Given the description of an element on the screen output the (x, y) to click on. 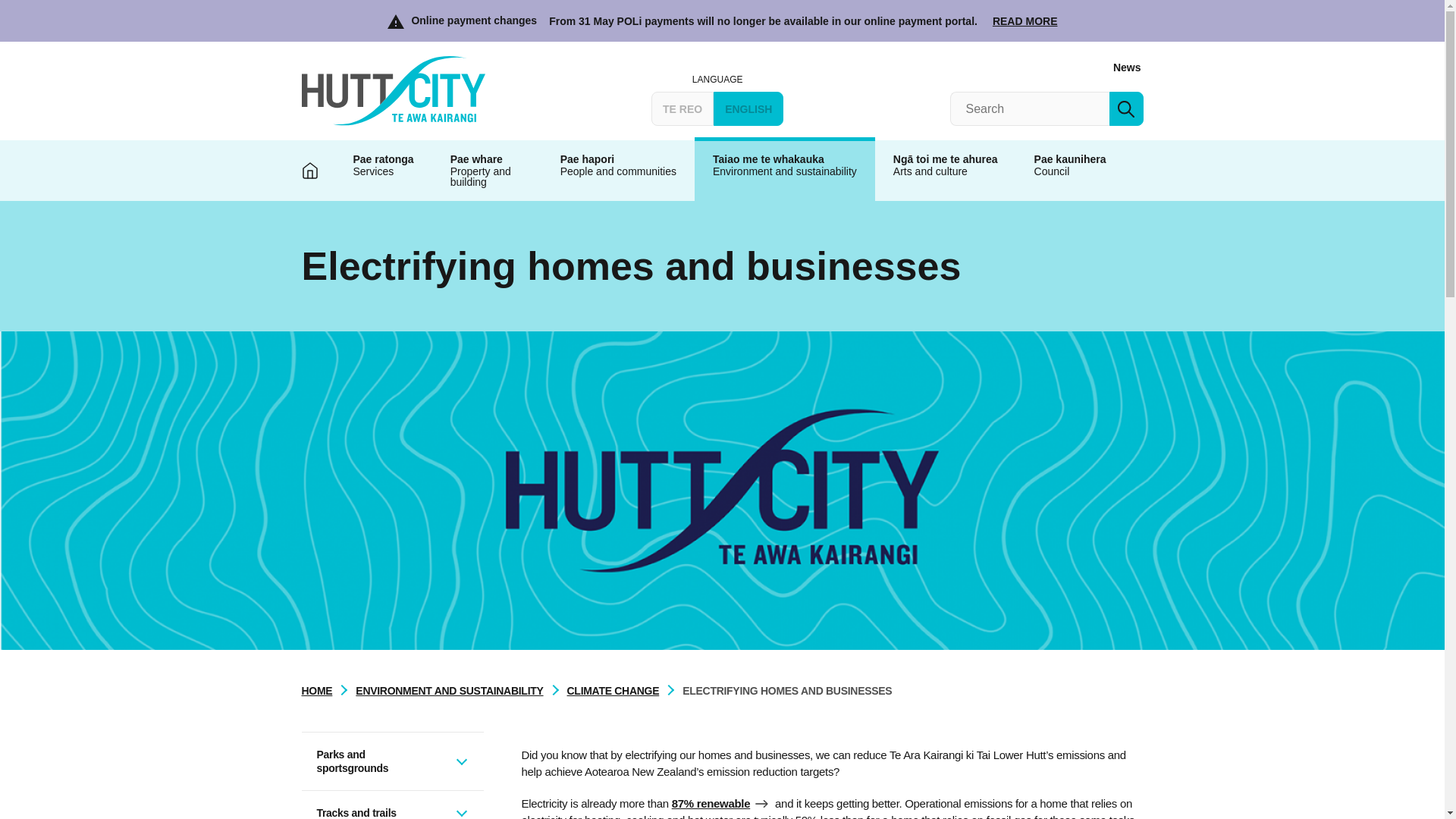
Services (383, 170)
Hutt City Council Logo (392, 91)
People and communities (617, 170)
ENGLISH (748, 108)
READ MORE (1025, 20)
TE REO (681, 108)
Property and building (486, 170)
